Given the description of an element on the screen output the (x, y) to click on. 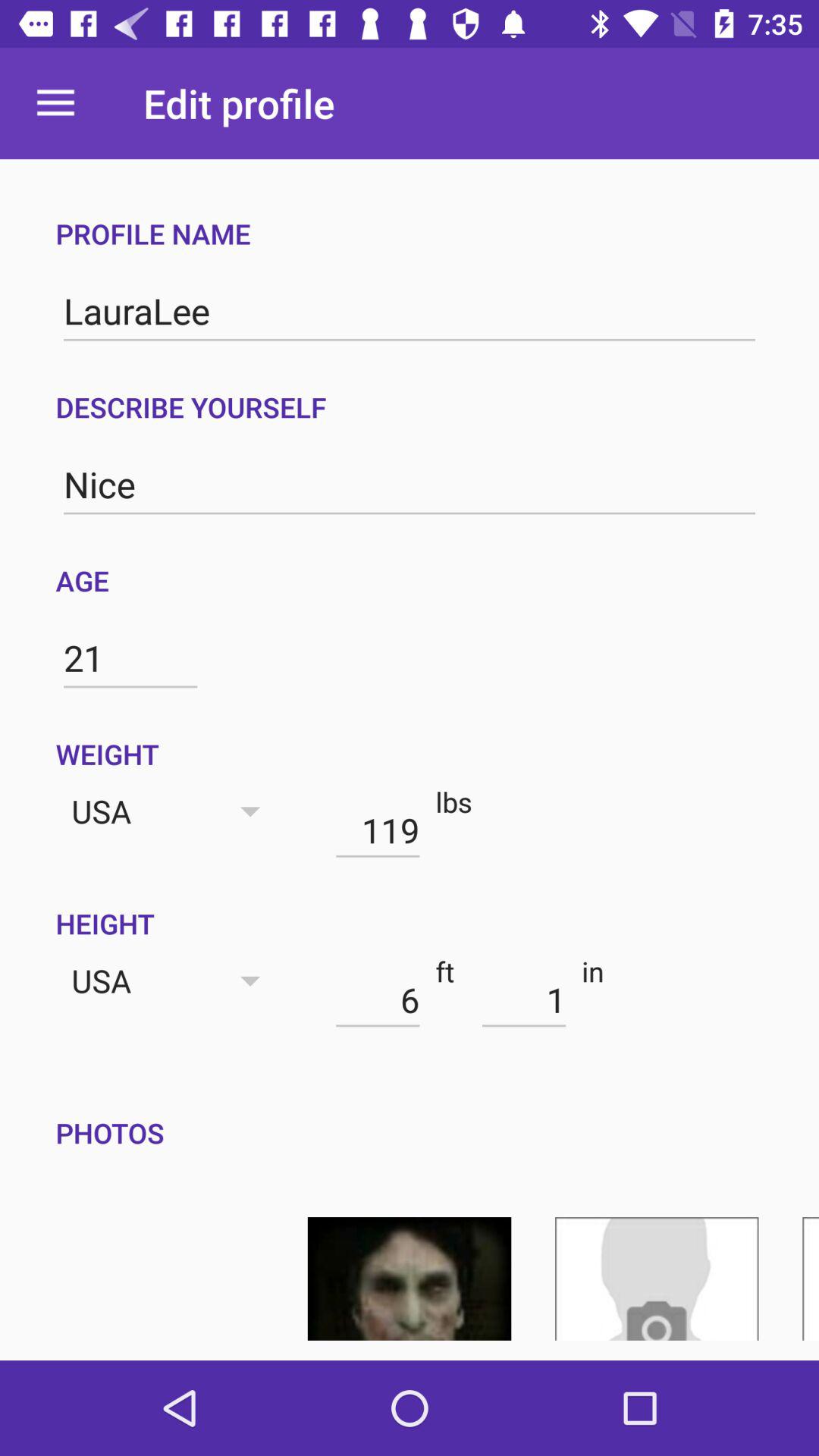
select the icon above photos icon (523, 999)
